Given the description of an element on the screen output the (x, y) to click on. 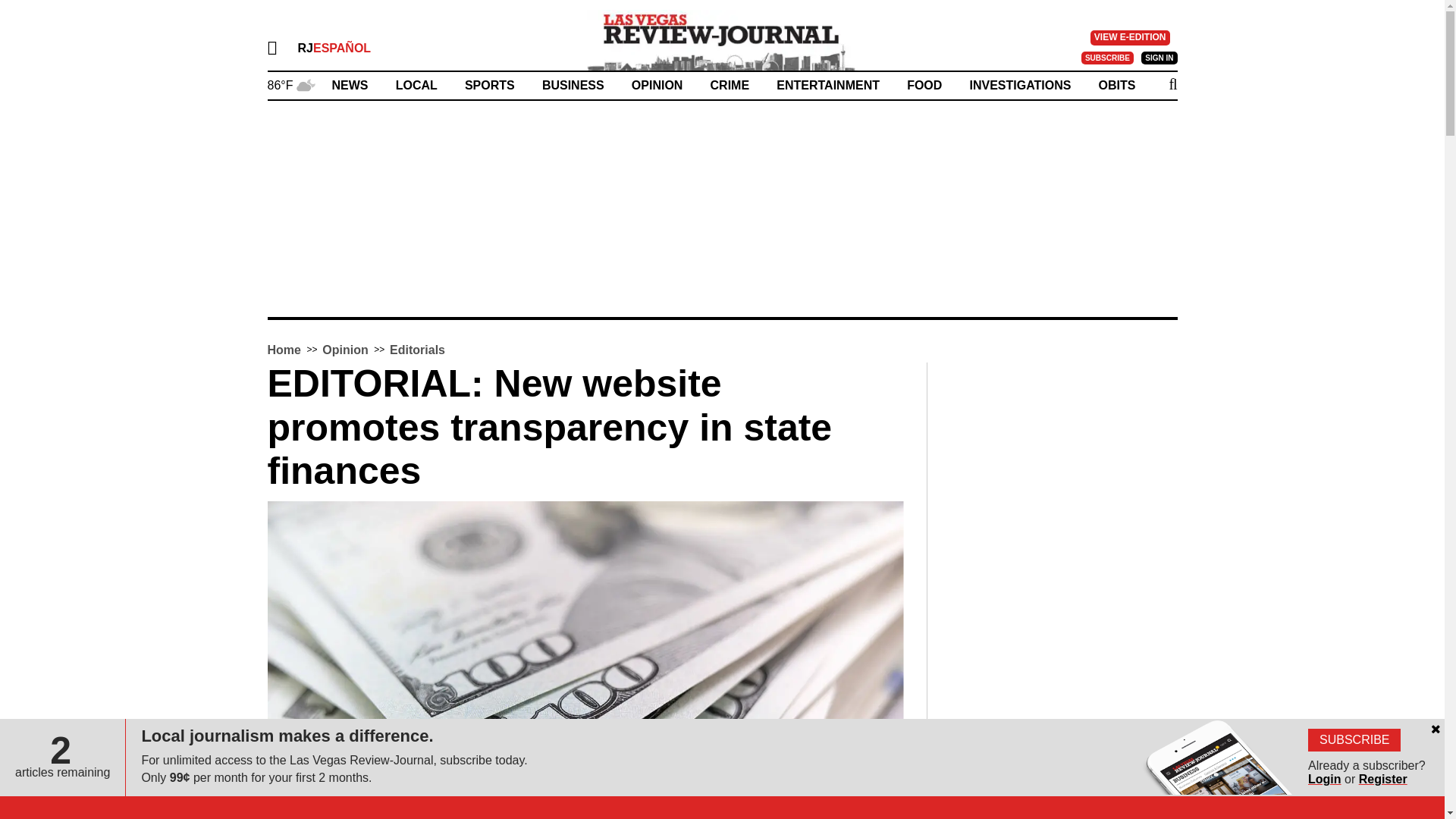
NEWS (349, 84)
ENTERTAINMENT (827, 84)
CRIME (729, 84)
INVESTIGATIONS (1019, 84)
VIEW E-EDITION (1130, 37)
OBITS (1117, 84)
SUBSCRIBE (1107, 58)
Las Vegas News (721, 39)
Weather Forecast (290, 83)
FOOD (924, 84)
SIGN IN (1158, 58)
OPINION (656, 84)
SPORTS (489, 84)
BUSINESS (572, 84)
